Given the description of an element on the screen output the (x, y) to click on. 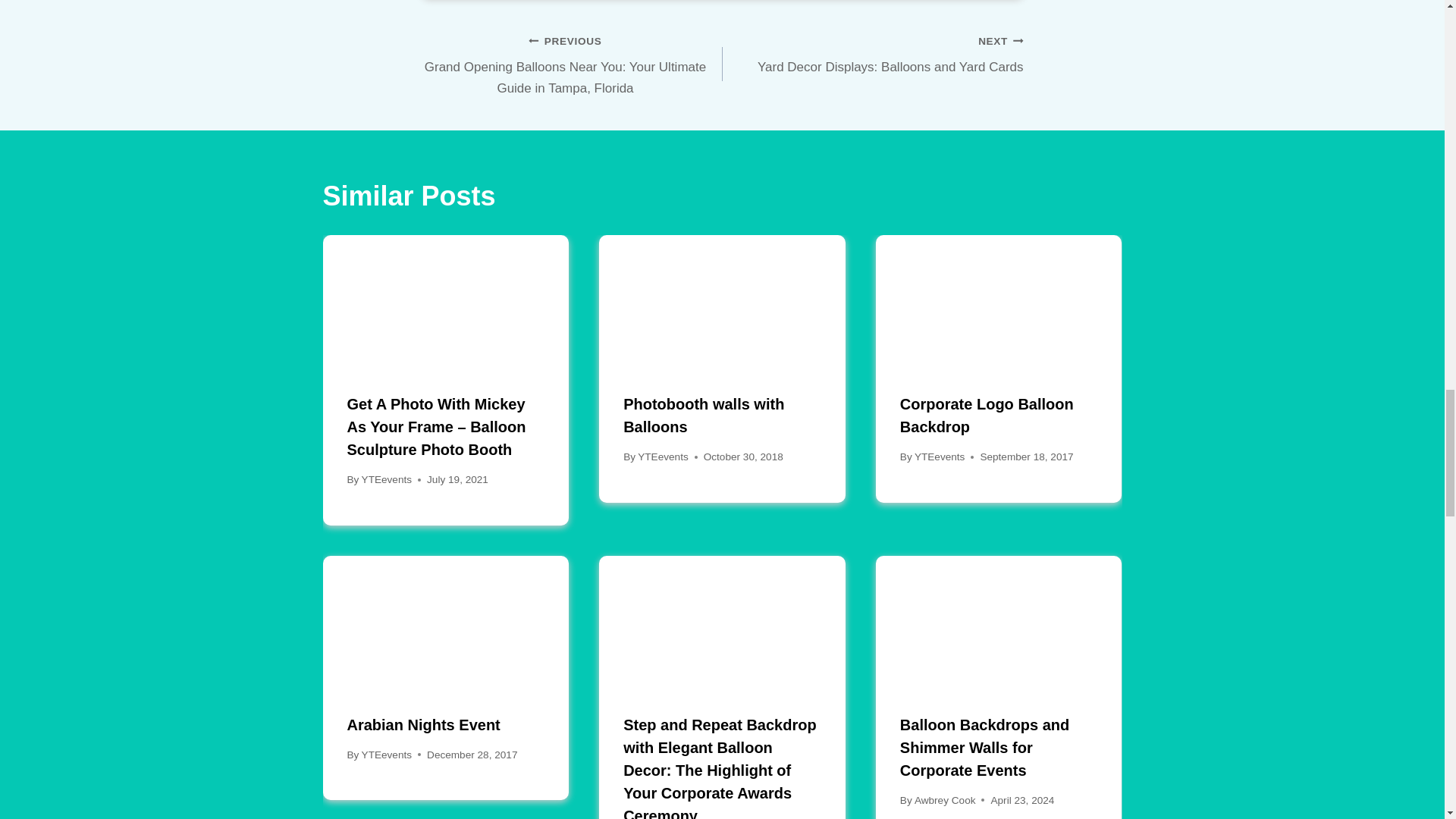
YTEevents (872, 53)
